Given the description of an element on the screen output the (x, y) to click on. 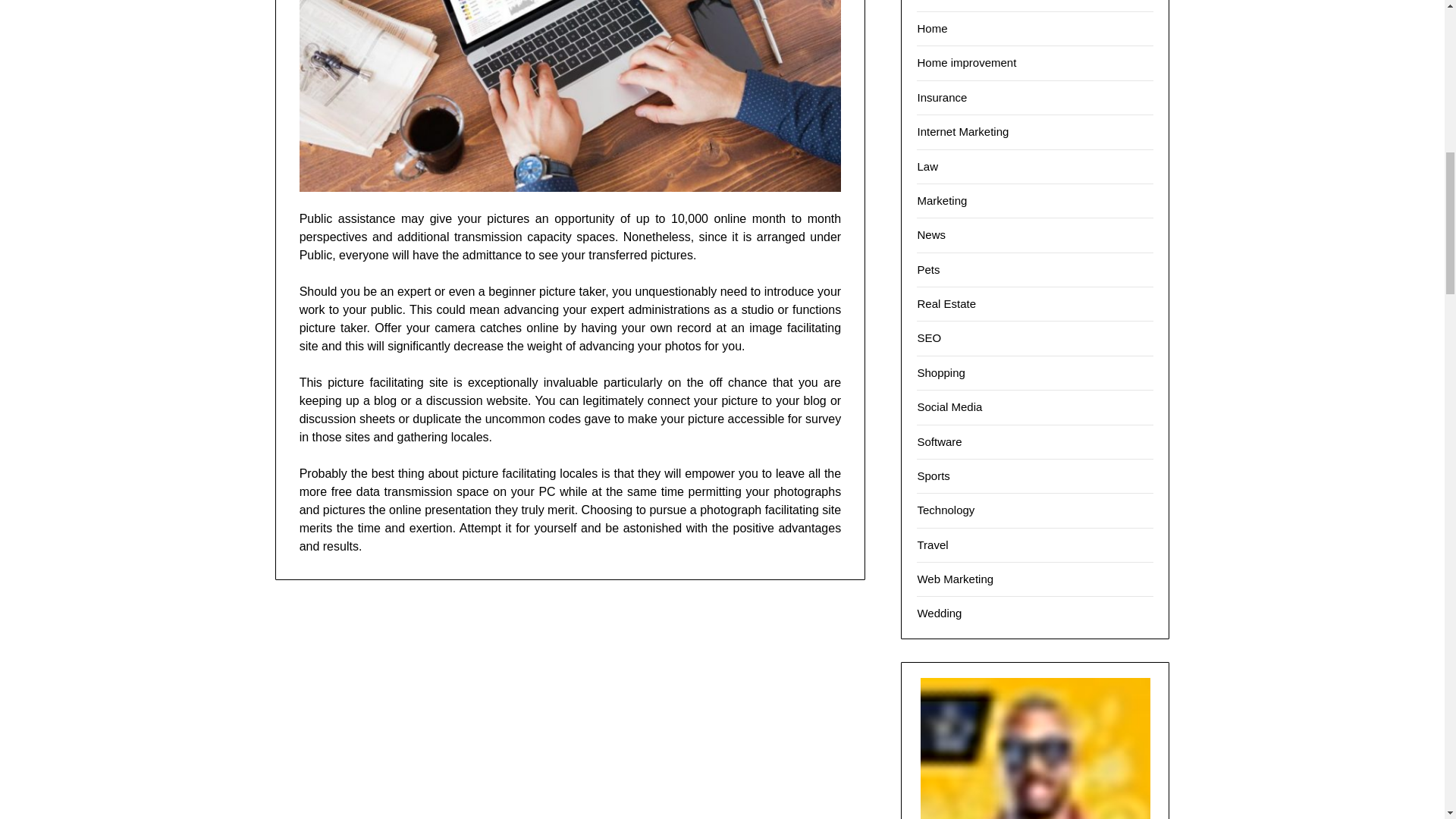
Marketing (941, 200)
Insurance (941, 97)
Real Estate (946, 303)
Internet Marketing (963, 131)
Law (927, 164)
Home improvement (966, 62)
Home (932, 28)
Pets (928, 269)
News (930, 234)
